Given the description of an element on the screen output the (x, y) to click on. 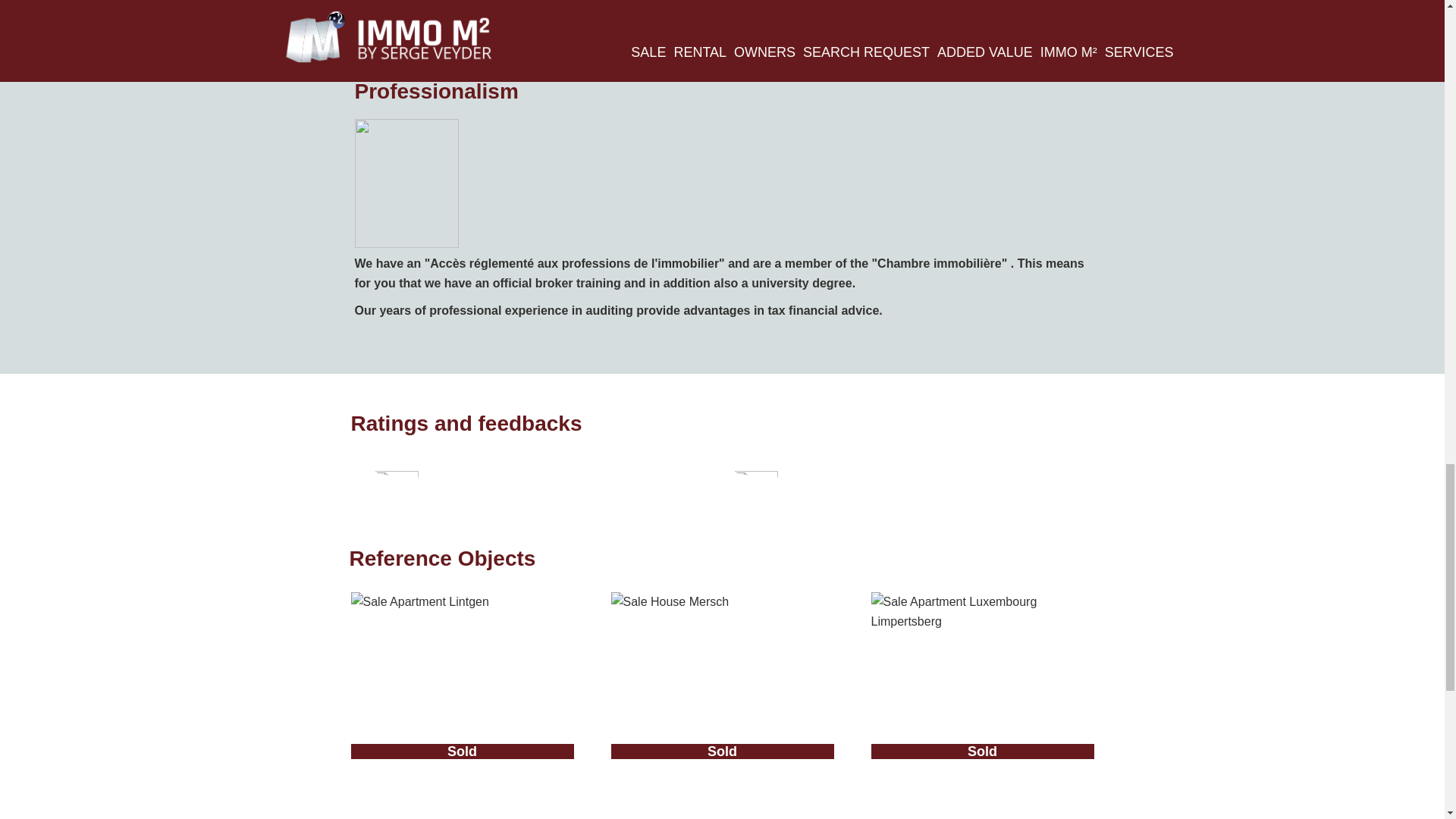
Sold (722, 682)
Sold (461, 682)
Sold (981, 682)
